Given the description of an element on the screen output the (x, y) to click on. 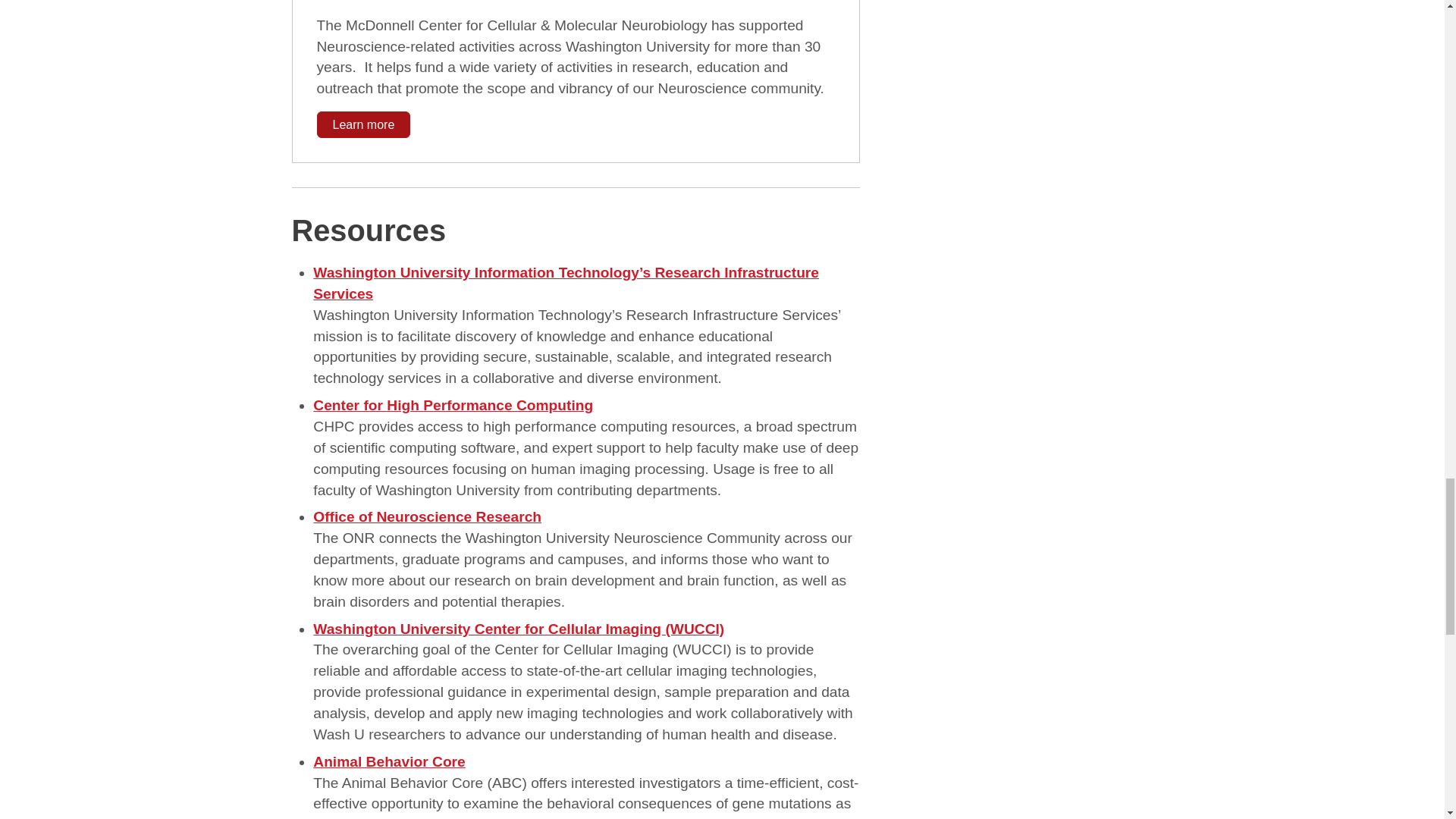
Center for High Performance Computing (452, 405)
Office of Neuroscience Research (427, 516)
Animal Behavior Core (388, 761)
Learn more (363, 124)
